Given the description of an element on the screen output the (x, y) to click on. 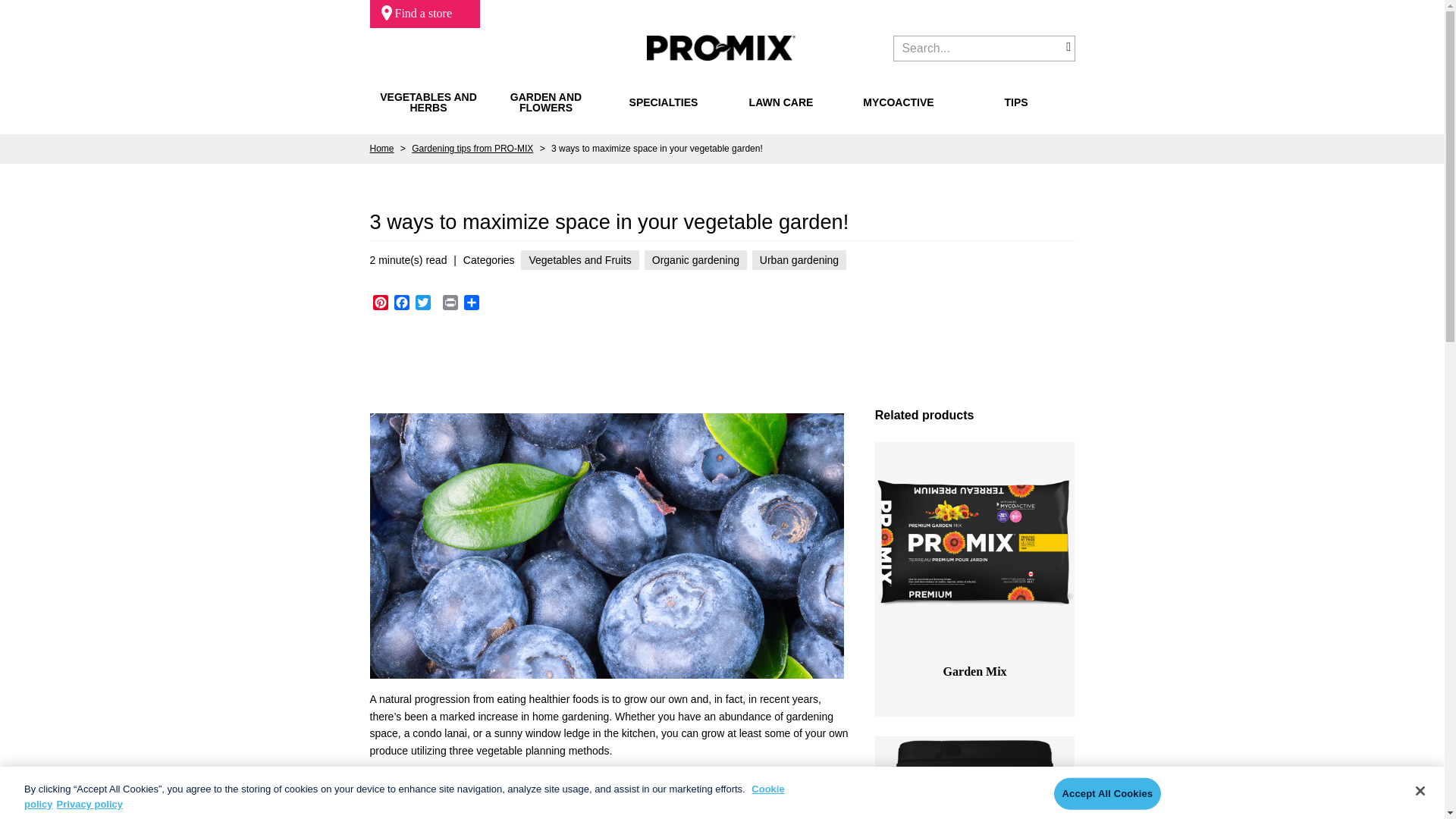
Lawn Care (780, 102)
Specialties (662, 102)
Find a store (424, 14)
Vegetables and Herbs (427, 102)
LAWN CARE (780, 102)
Garden and flowers (546, 102)
VEGETABLES AND HERBS (427, 102)
Mycoactive (898, 102)
Gardening tips from PRO-MIX (472, 148)
